Given the description of an element on the screen output the (x, y) to click on. 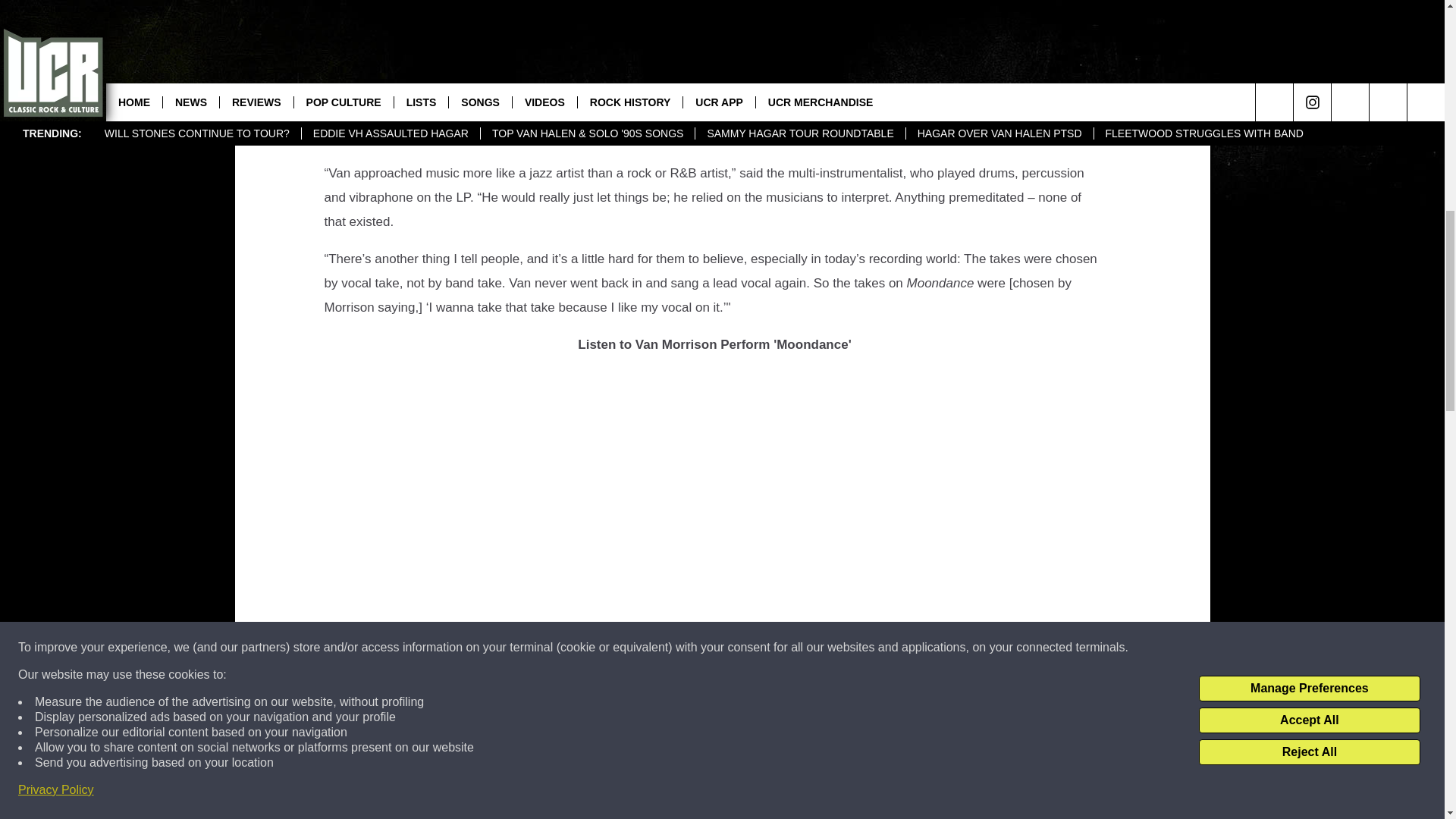
Van Morrison (689, 25)
here (661, 801)
Ultimate Classic Rock Nights (558, 135)
